Given the description of an element on the screen output the (x, y) to click on. 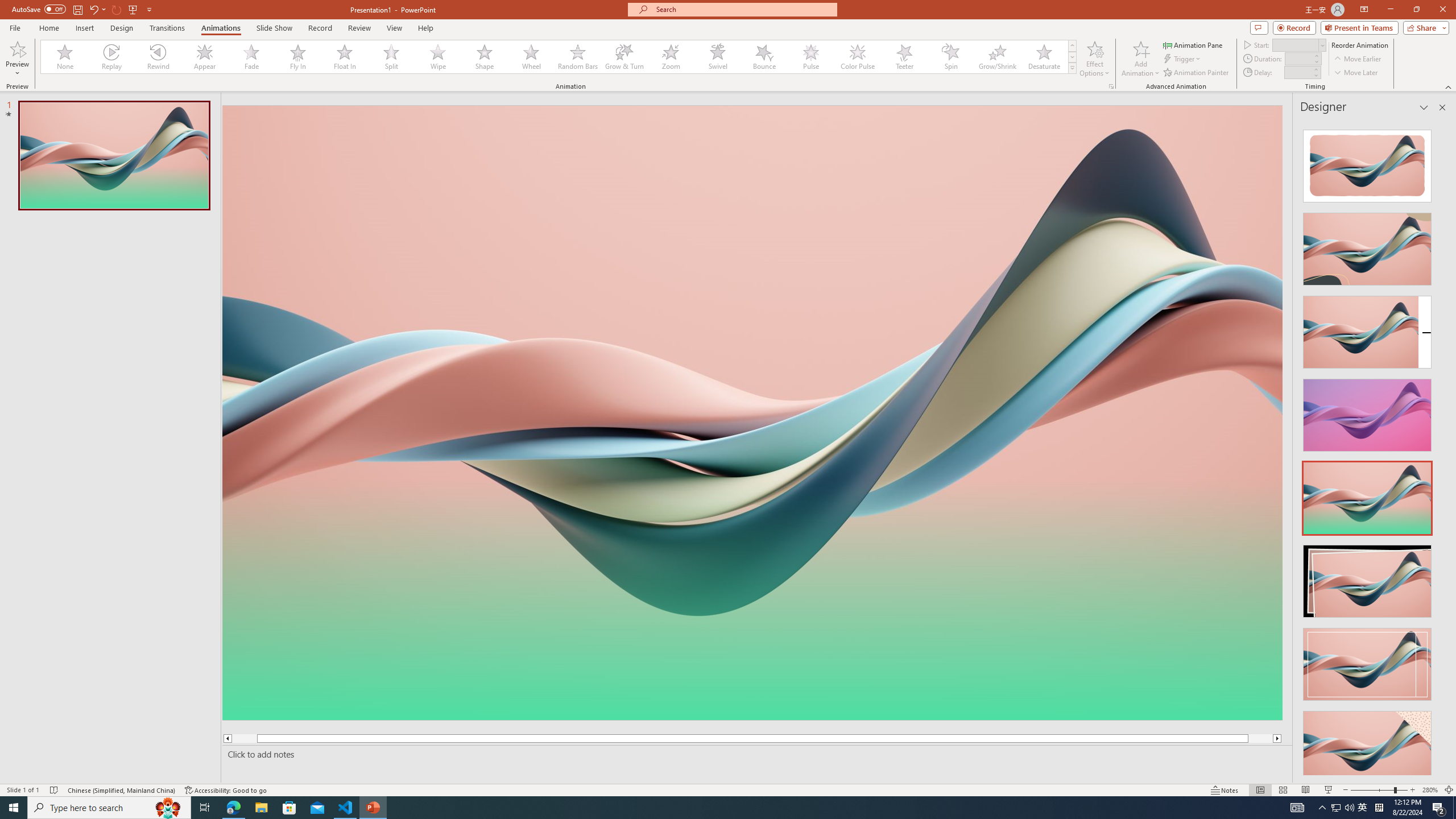
Design Idea (1366, 743)
Move Later (1355, 72)
None (65, 56)
Fade (251, 56)
Animation Delay (1297, 72)
Split (391, 56)
